Given the description of an element on the screen output the (x, y) to click on. 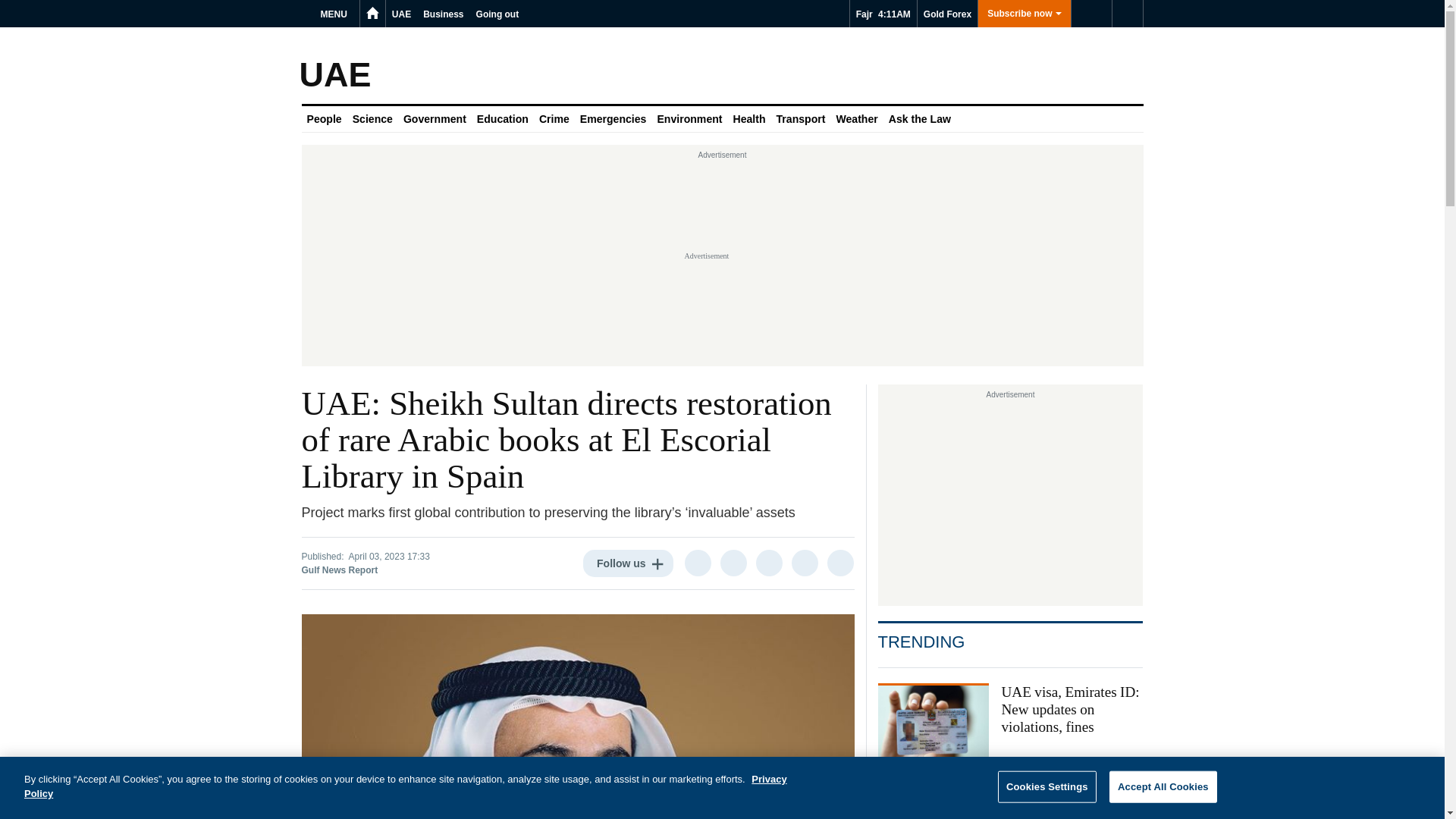
Fajr 4:11AM (883, 13)
3rd party ad content (1010, 498)
Business (442, 13)
UAE (400, 13)
MENU (336, 13)
Going out (497, 13)
Gold Forex (946, 13)
Subscribe now (1024, 13)
